Given the description of an element on the screen output the (x, y) to click on. 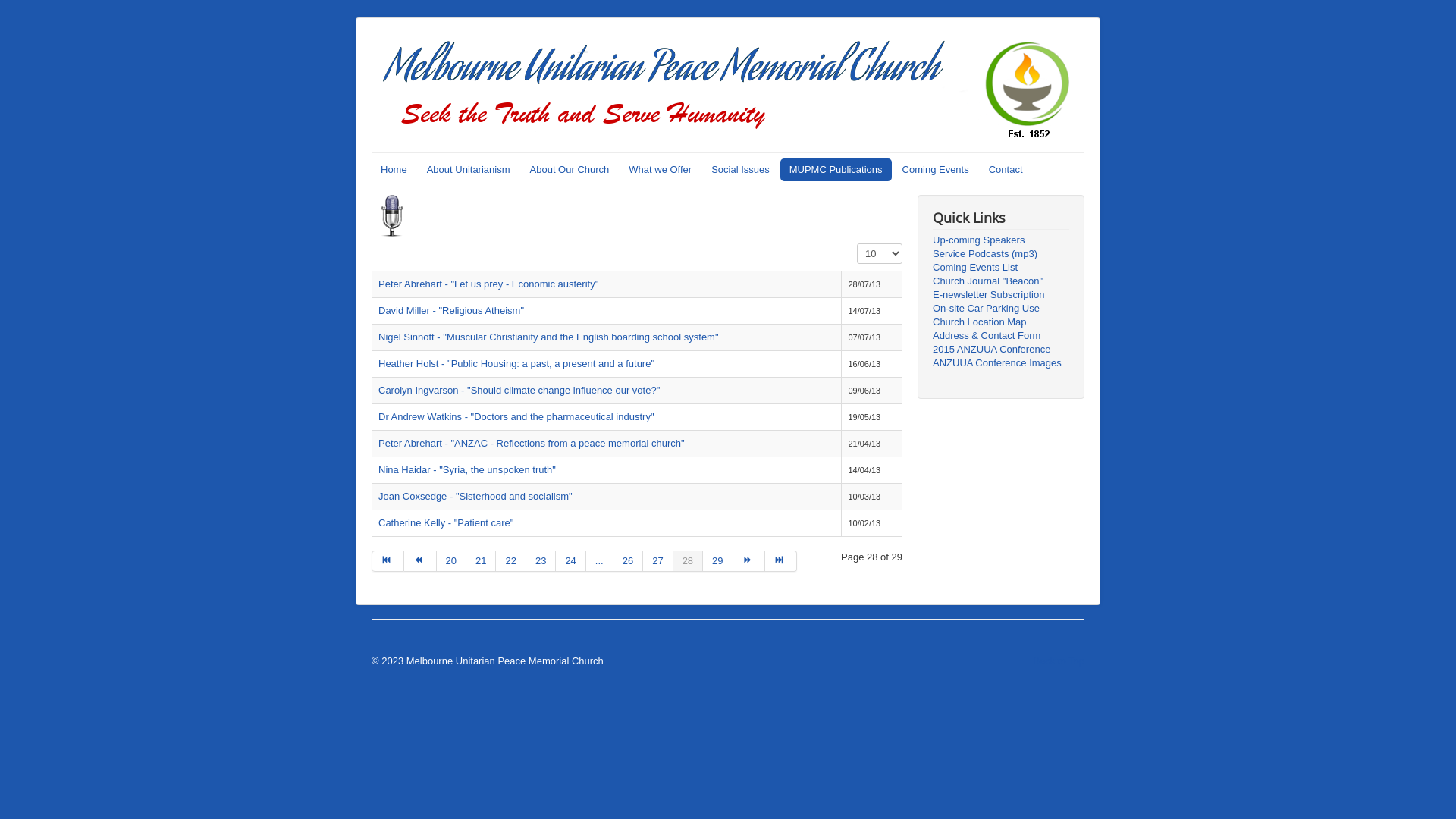
E-newsletter Subscription Element type: text (1000, 294)
Prev Element type: hover (420, 560)
Contact Element type: text (1005, 169)
MUPMC Publications Element type: text (835, 169)
ANZUUA Conference Images Element type: text (1000, 363)
23 Element type: text (540, 560)
End Element type: hover (781, 560)
Peter Abrehart - "Let us prey - Economic austerity" Element type: text (488, 283)
Up-coming Speakers Element type: text (1000, 240)
What we Offer Element type: text (659, 169)
20 Element type: text (451, 560)
Home Element type: text (393, 169)
On-site Car Parking Use Element type: text (1000, 308)
28 Element type: text (687, 560)
Catherine Kelly - "Patient care" Element type: text (445, 522)
Address & Contact Form Element type: text (1000, 335)
About Unitarianism Element type: text (468, 169)
Coming Events List Element type: text (1000, 267)
26 Element type: text (628, 560)
... Element type: text (599, 560)
2015 ANZUUA Conference Element type: text (1000, 349)
22 Element type: text (510, 560)
David Miller - "Religious Atheism" Element type: text (451, 310)
Social Issues Element type: text (740, 169)
Church Journal "Beacon" Element type: text (1000, 281)
24 Element type: text (570, 560)
Service Podcasts (mp3) Element type: text (1000, 253)
Joan Coxsedge - "Sisterhood and socialism" Element type: text (475, 496)
Coming Events Element type: text (935, 169)
Next Element type: hover (749, 560)
Donna Element type: text (385, 640)
27 Element type: text (657, 560)
About Our Church Element type: text (569, 169)
Nina Haidar - "Syria, the unspoken truth" Element type: text (466, 469)
Church Location Map Element type: text (1000, 322)
29 Element type: text (717, 560)
21 Element type: text (480, 560)
Back to Top Element type: text (1058, 660)
Start Element type: hover (387, 560)
